Given the description of an element on the screen output the (x, y) to click on. 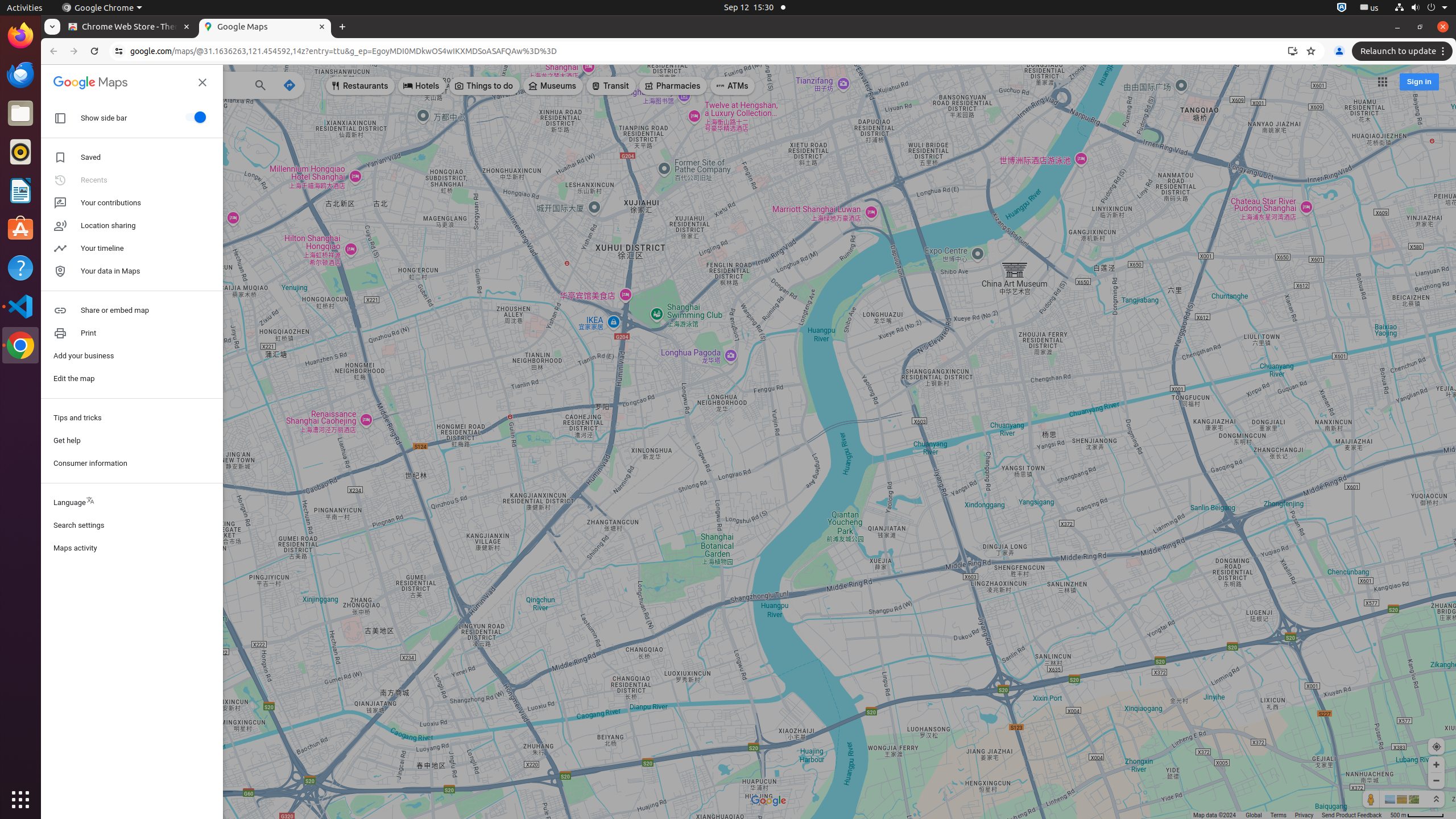
:1.21/StatusNotifierItem Element type: menu (1369, 7)
Show Street View coverage Element type: push-button (1370, 798)
Relaunch to update Element type: push-button (1403, 50)
Back Element type: push-button (51, 50)
Sign in Element type: link (1418, 81)
